Given the description of an element on the screen output the (x, y) to click on. 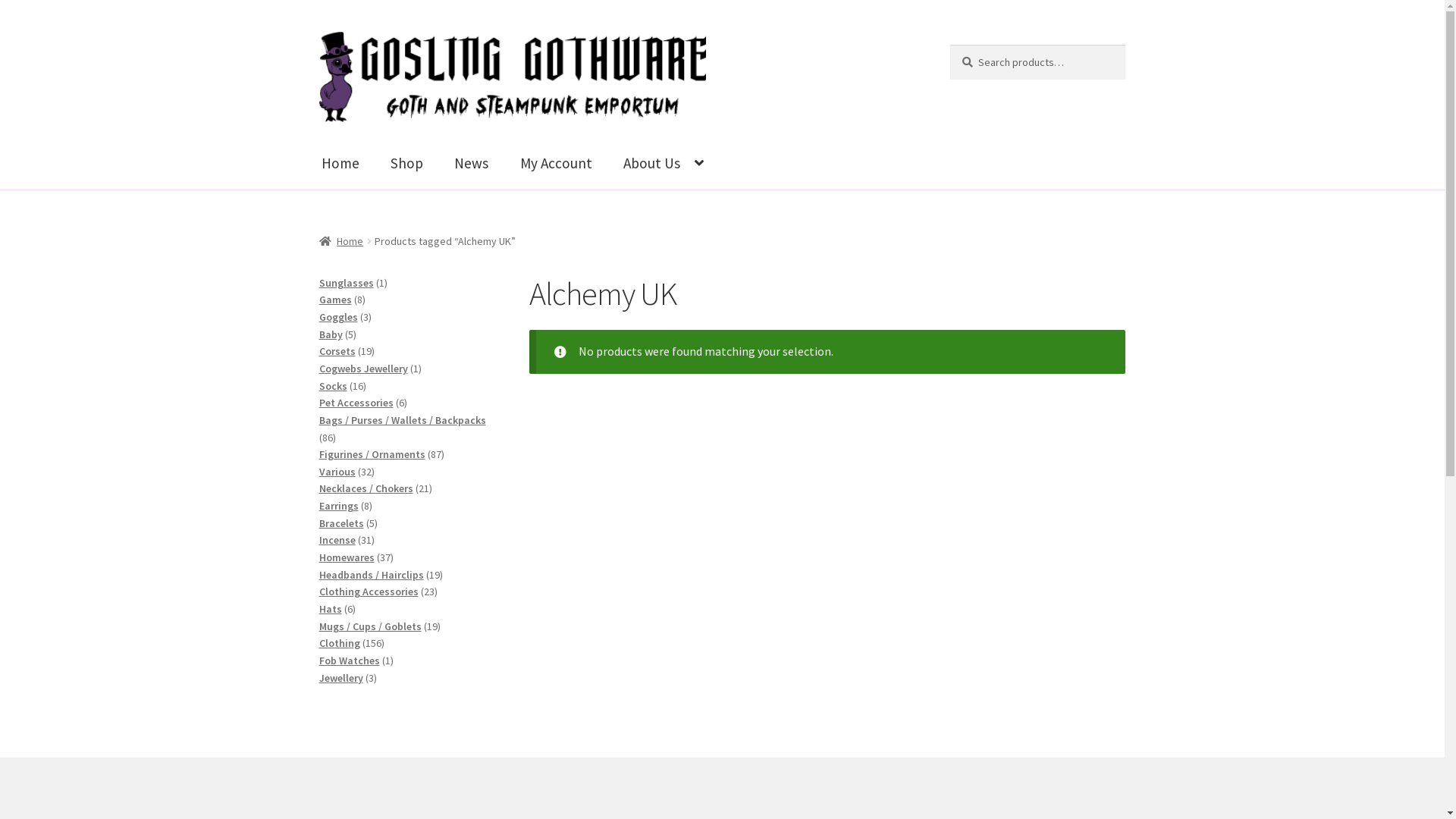
Headbands / Hairclips Element type: text (371, 574)
Clothing Accessories Element type: text (368, 591)
Baby Element type: text (330, 334)
Home Element type: text (341, 240)
Incense Element type: text (337, 539)
Various Element type: text (337, 471)
Corsets Element type: text (337, 350)
Mugs / Cups / Goblets Element type: text (370, 626)
Sunglasses Element type: text (346, 282)
News Element type: text (470, 163)
Games Element type: text (335, 299)
Cogwebs Jewellery Element type: text (363, 368)
Earrings Element type: text (338, 505)
Clothing Element type: text (339, 642)
Necklaces / Chokers Element type: text (366, 488)
Shop Element type: text (406, 163)
My Account Element type: text (555, 163)
About Us Element type: text (663, 162)
Figurines / Ornaments Element type: text (372, 454)
Home Element type: text (340, 163)
Search Element type: text (949, 43)
Homewares Element type: text (346, 557)
Bags / Purses / Wallets / Backpacks Element type: text (402, 419)
Fob Watches Element type: text (349, 660)
Bracelets Element type: text (341, 523)
Hats Element type: text (330, 608)
Pet Accessories Element type: text (356, 402)
Goggles Element type: text (338, 316)
Jewellery Element type: text (341, 677)
Socks Element type: text (333, 385)
Skip to navigation Element type: text (318, 31)
